Given the description of an element on the screen output the (x, y) to click on. 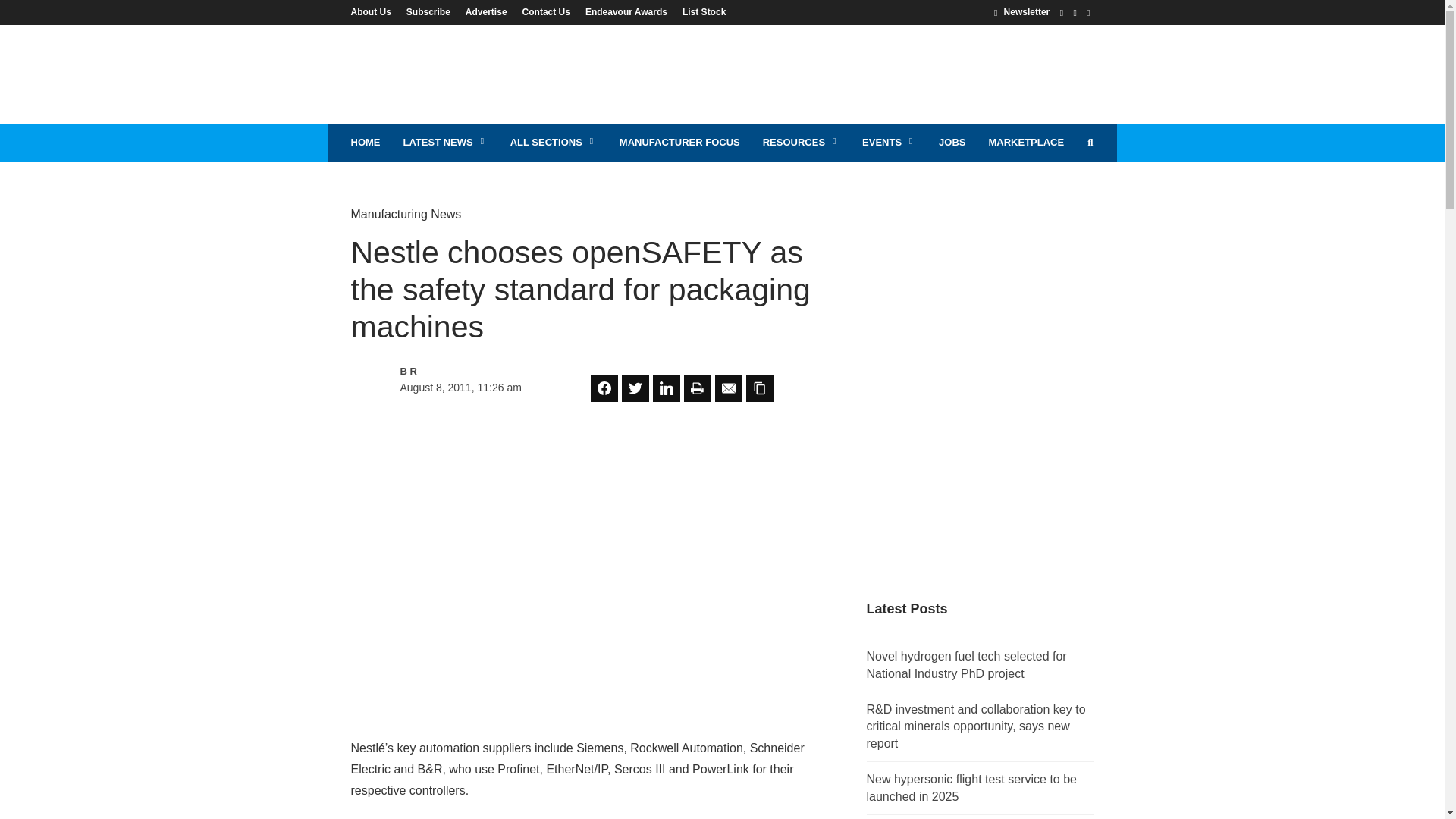
List Stock (700, 11)
View all posts by B R (465, 371)
Share on Email (728, 388)
Contact Us (546, 11)
About Us (373, 11)
HOME (365, 142)
Newsletter (1021, 11)
Share on Twitter (635, 388)
LATEST NEWS (444, 142)
Subscribe (428, 11)
Share on Print (697, 388)
Share on Copy Link (759, 388)
ALL SECTIONS (553, 142)
Share on LinkedIn (665, 388)
Endeavour Awards (626, 11)
